Given the description of an element on the screen output the (x, y) to click on. 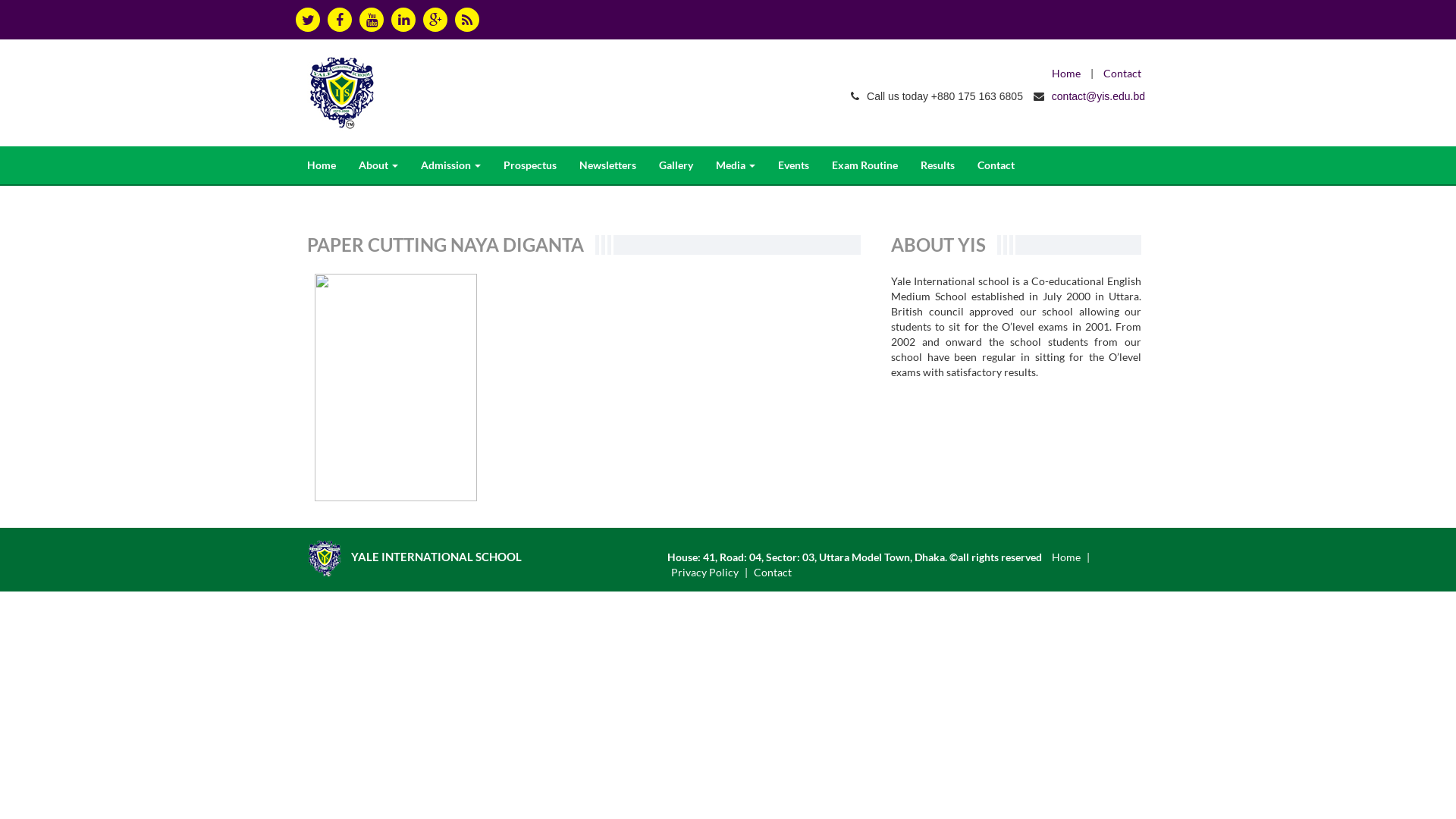
Exam Routine Element type: text (864, 165)
Gallery Element type: text (675, 165)
Home Element type: text (321, 165)
Media Element type: text (735, 165)
Contact Element type: text (772, 571)
Home Element type: text (1065, 72)
Admission Element type: text (450, 165)
contact@yis.edu.bd Element type: text (1098, 95)
Newsletters Element type: text (607, 165)
Prospectus Element type: text (529, 165)
Contact Element type: text (996, 165)
Results Element type: text (937, 165)
Events Element type: text (793, 165)
About Element type: text (378, 165)
Contact Element type: text (1122, 72)
Privacy Policy Element type: text (704, 571)
Home Element type: text (1065, 556)
